Given the description of an element on the screen output the (x, y) to click on. 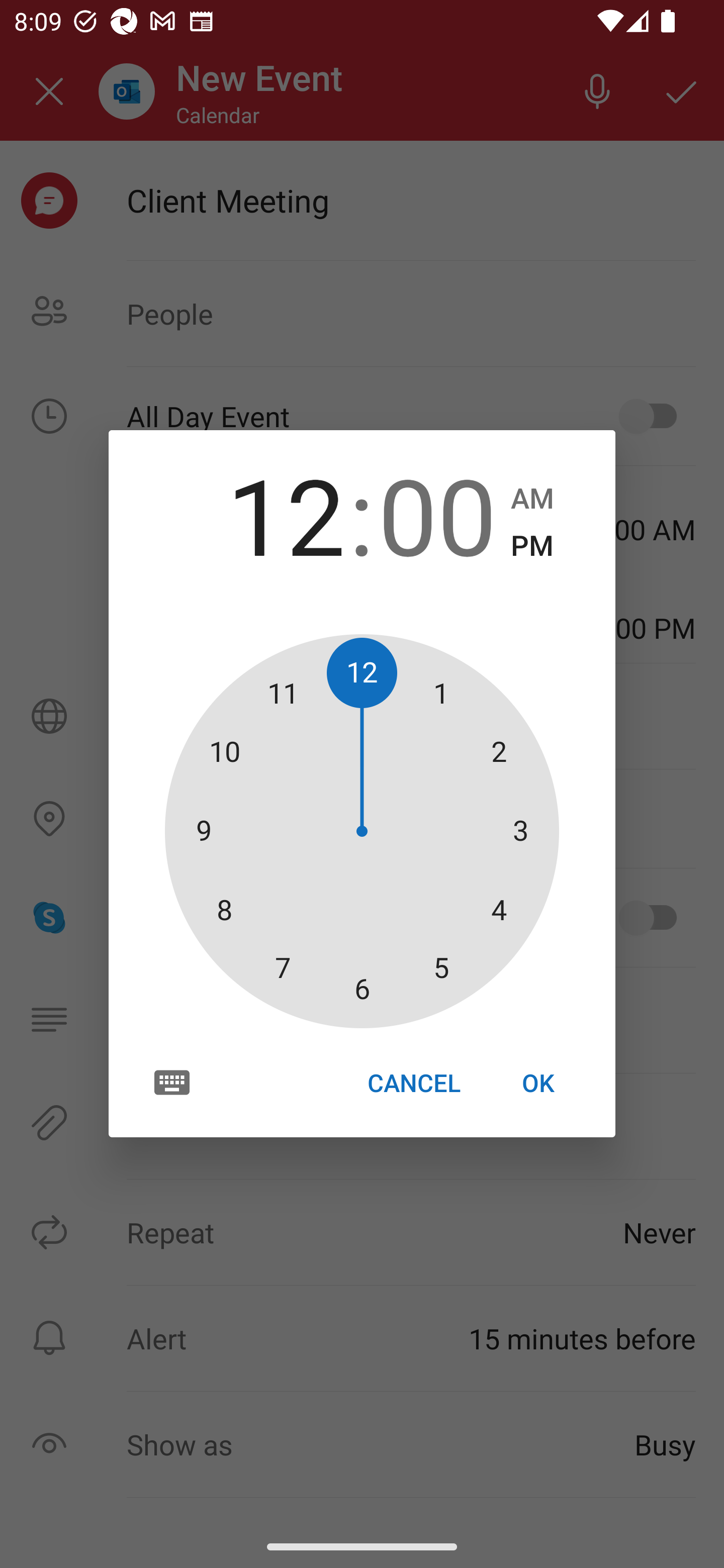
12 (285, 513)
00 (436, 513)
AM (532, 498)
PM (532, 546)
CANCEL (413, 1082)
OK (537, 1082)
Switch to text input mode for the time input. (171, 1081)
